Given the description of an element on the screen output the (x, y) to click on. 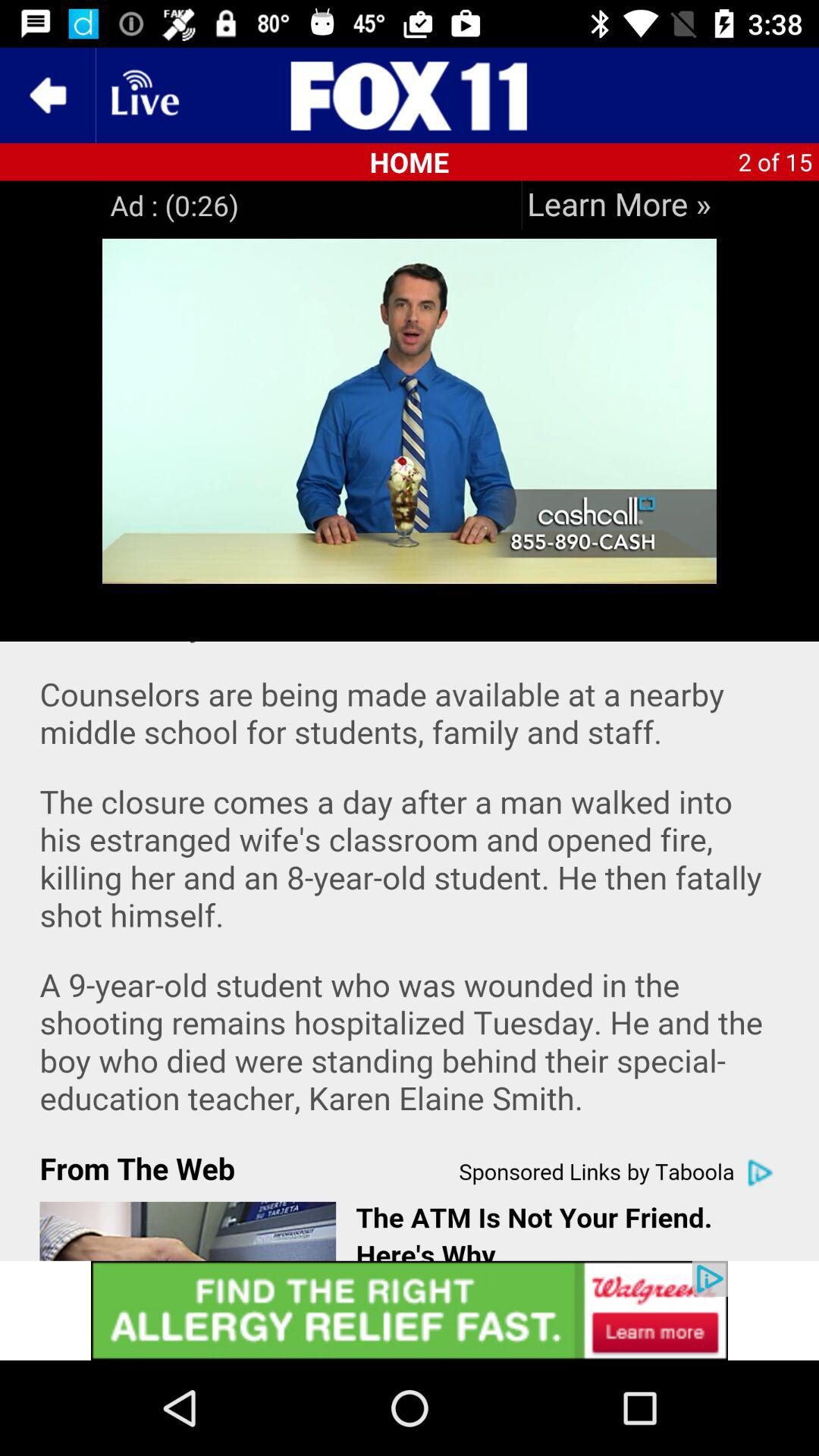
wifi button (143, 95)
